Given the description of an element on the screen output the (x, y) to click on. 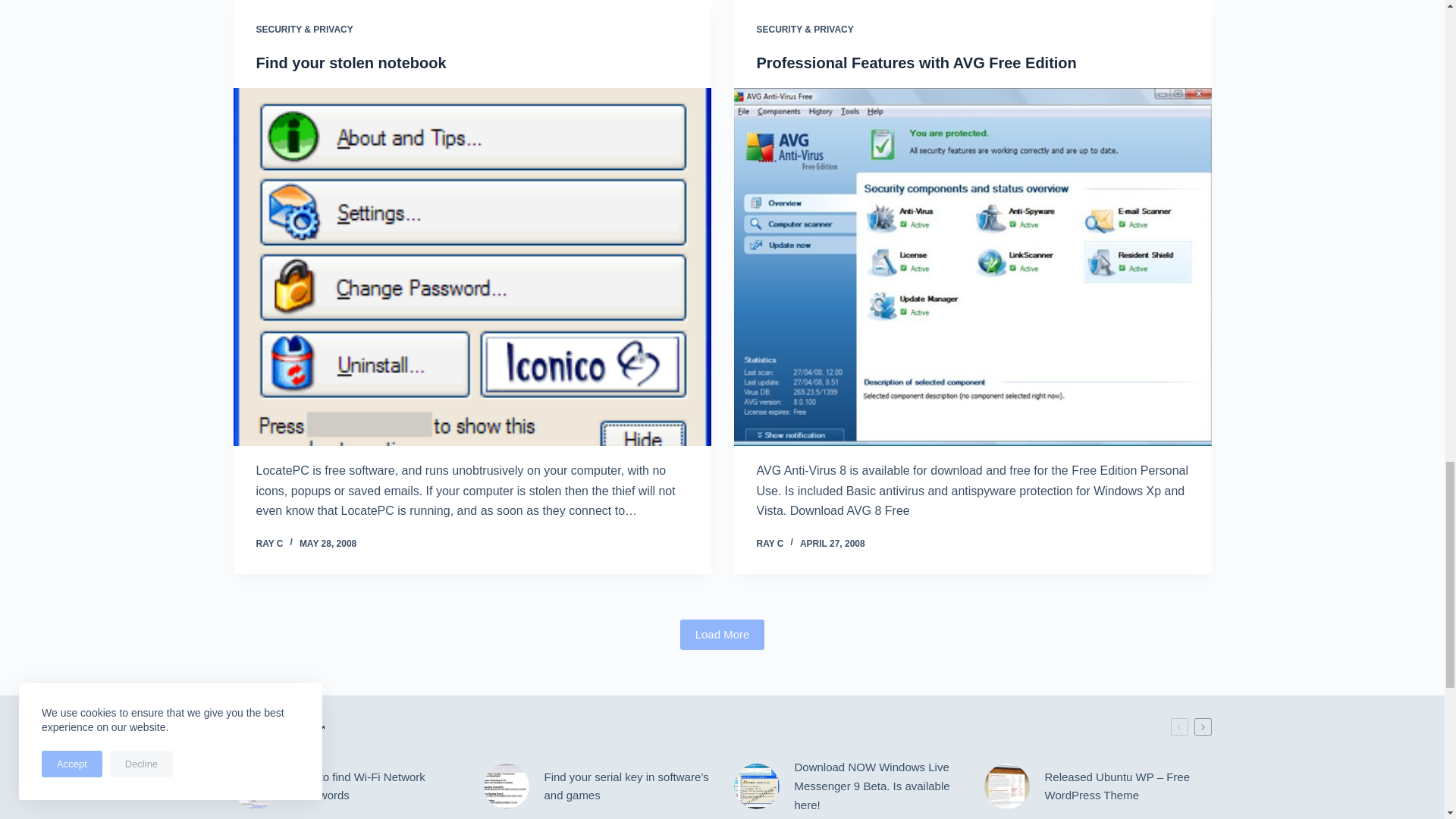
Posts by Ray C (269, 543)
Posts by Ray C (770, 543)
